Given the description of an element on the screen output the (x, y) to click on. 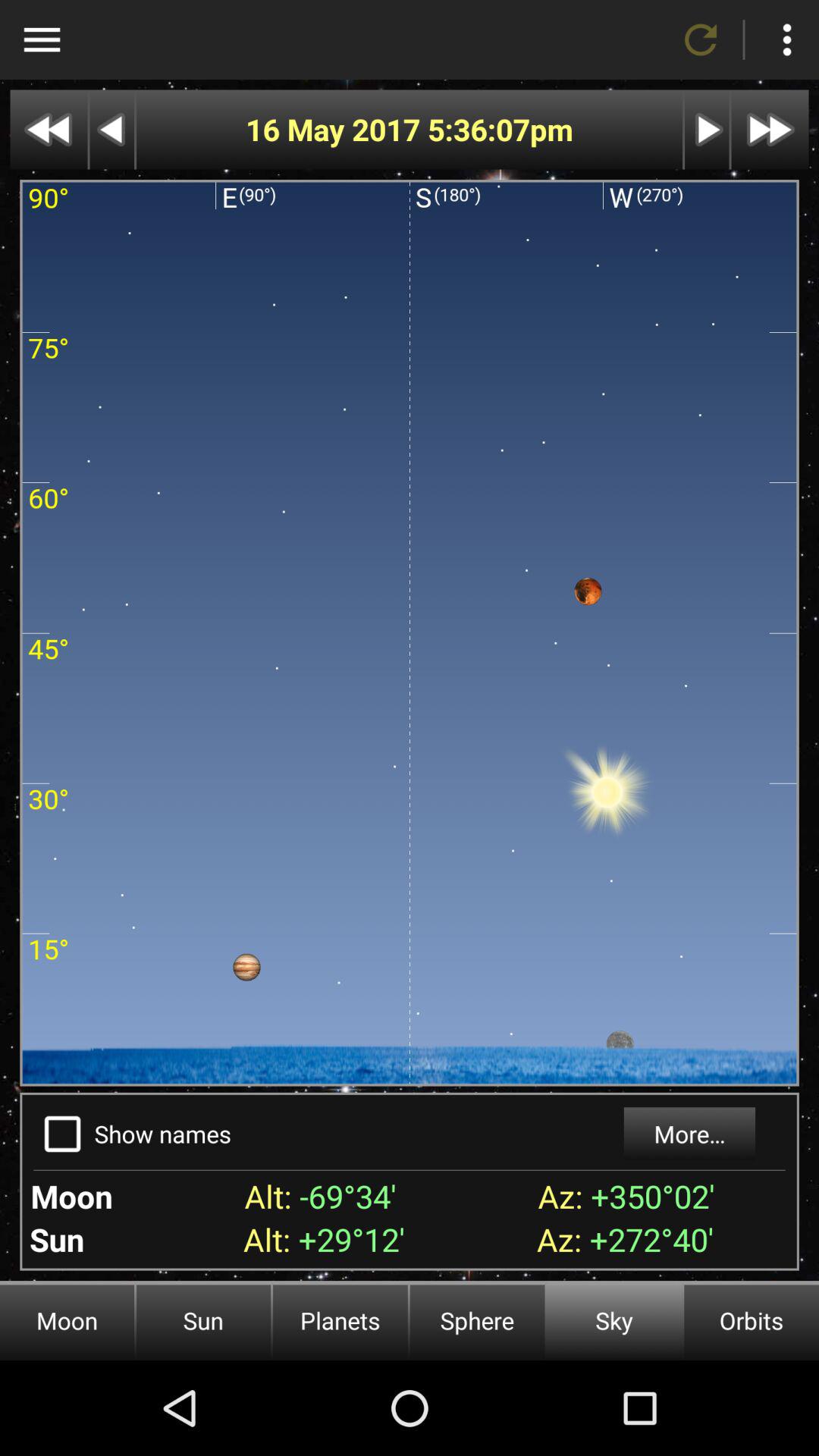
click app to the left of the 5:36:07 app (336, 129)
